Given the description of an element on the screen output the (x, y) to click on. 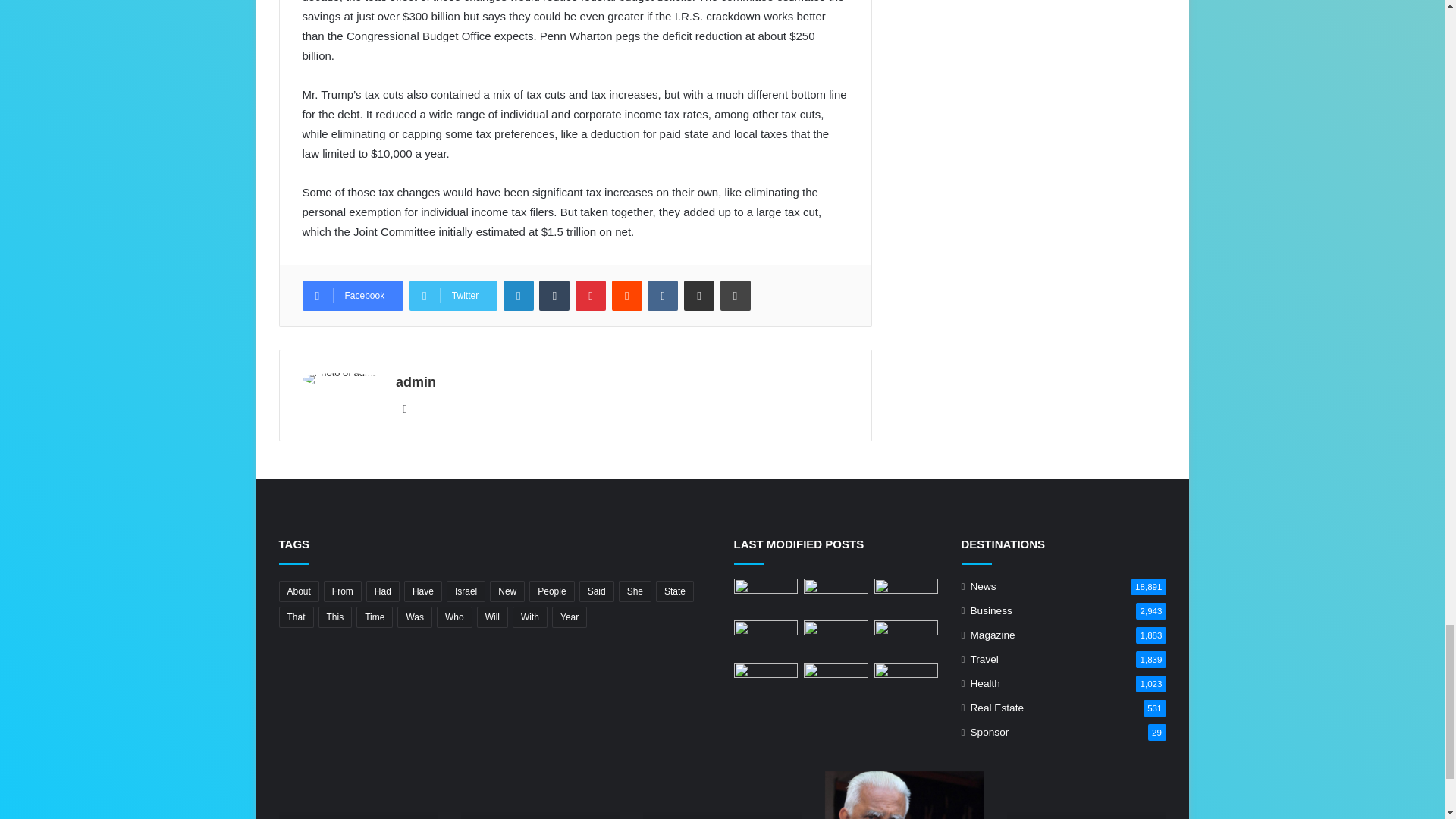
admin (415, 381)
Share via Email (699, 295)
Print (735, 295)
Reddit (626, 295)
Facebook (352, 295)
Twitter (453, 295)
LinkedIn (518, 295)
Share via Email (699, 295)
Print (735, 295)
Facebook (352, 295)
